Given the description of an element on the screen output the (x, y) to click on. 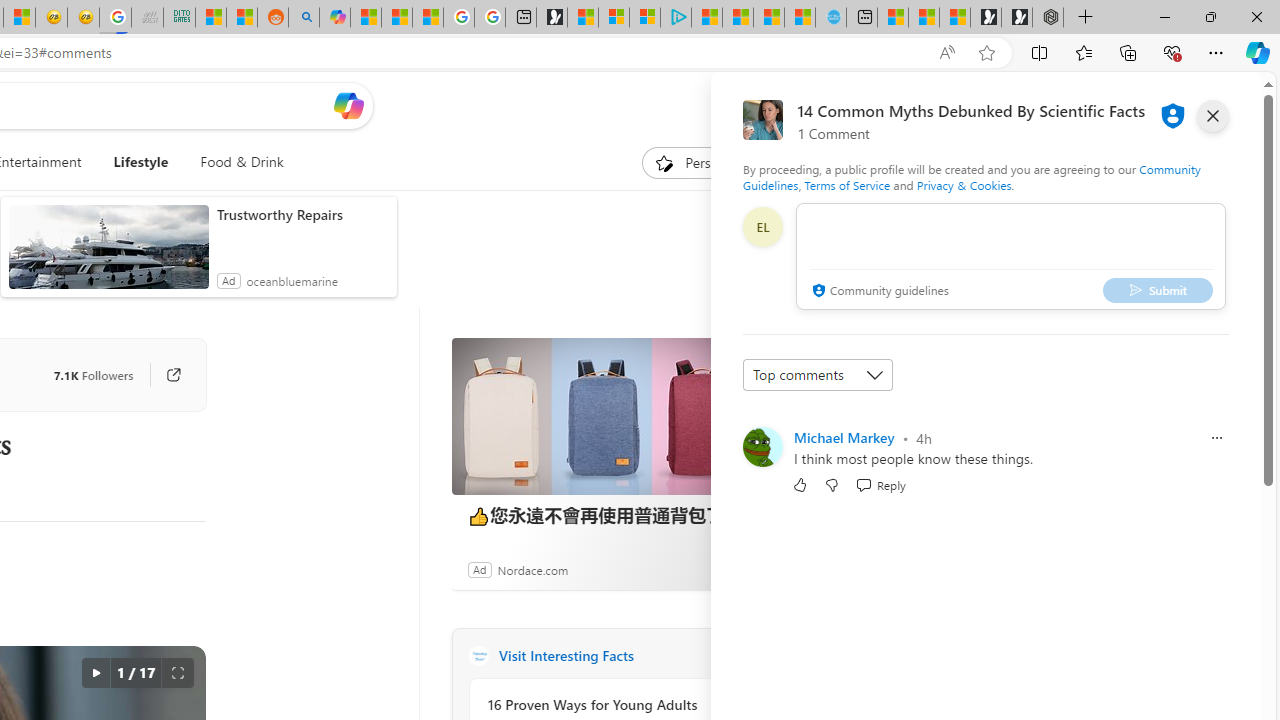
Nordace.com (532, 569)
Personalize (703, 162)
Profile Picture (762, 446)
Reply Reply Comment (880, 484)
anim-content (107, 255)
Food & Drink (234, 162)
